Given the description of an element on the screen output the (x, y) to click on. 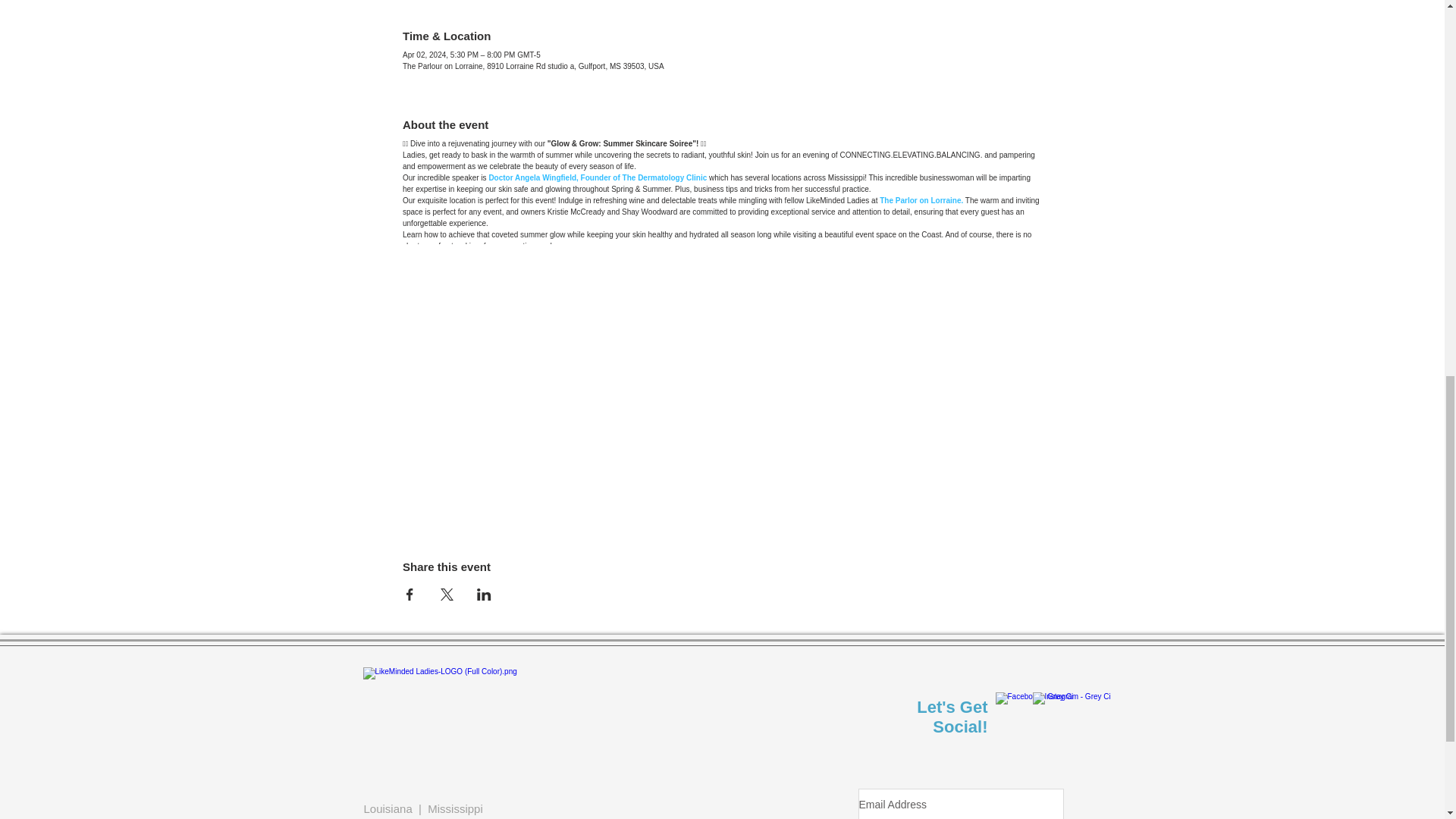
Doctor Angela Wingfield, Founder of The Dermatology Clinic (596, 177)
The Parlor on Lorraine. (920, 200)
